Given the description of an element on the screen output the (x, y) to click on. 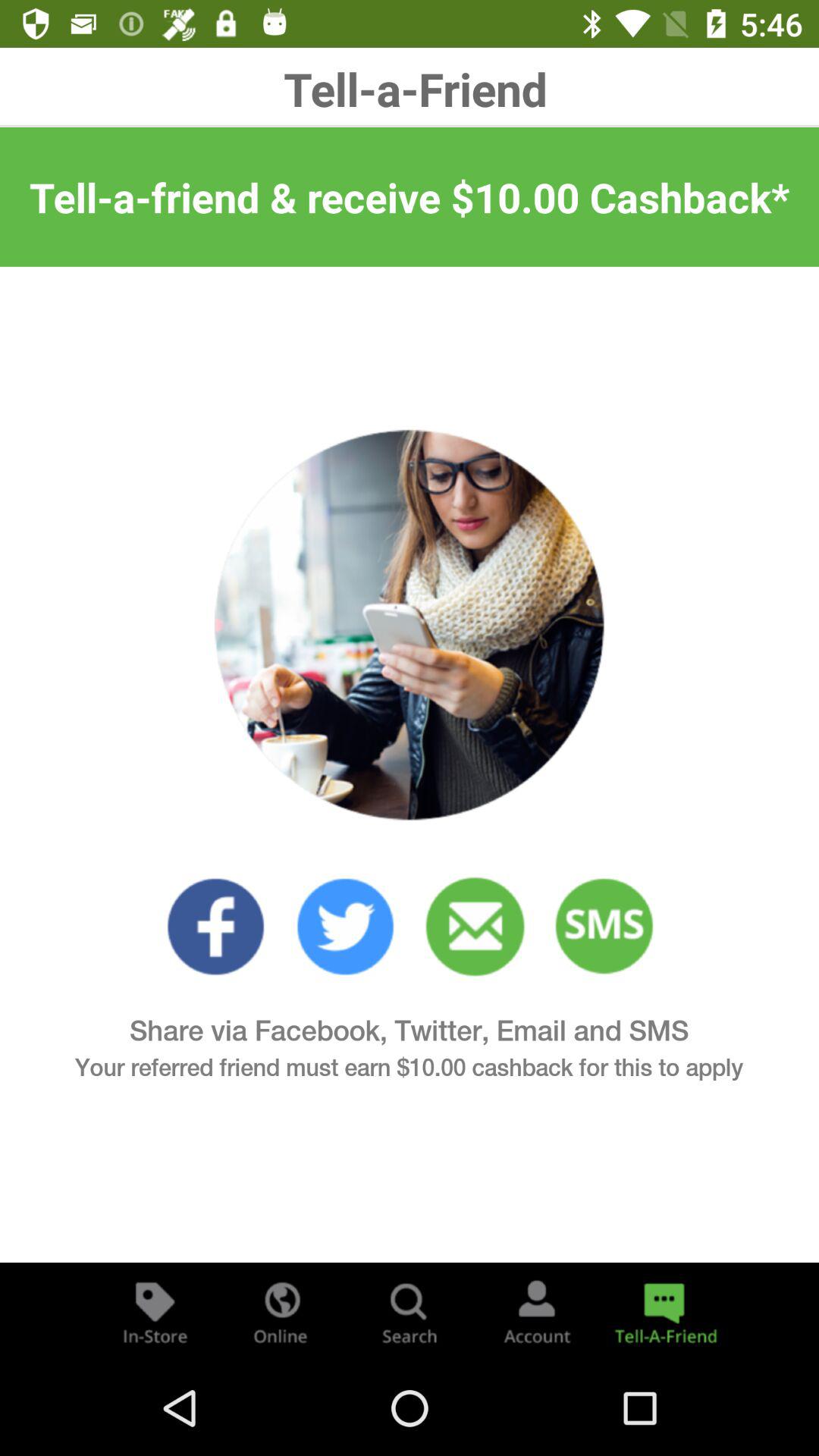
click on favorites (215, 926)
